Given the description of an element on the screen output the (x, y) to click on. 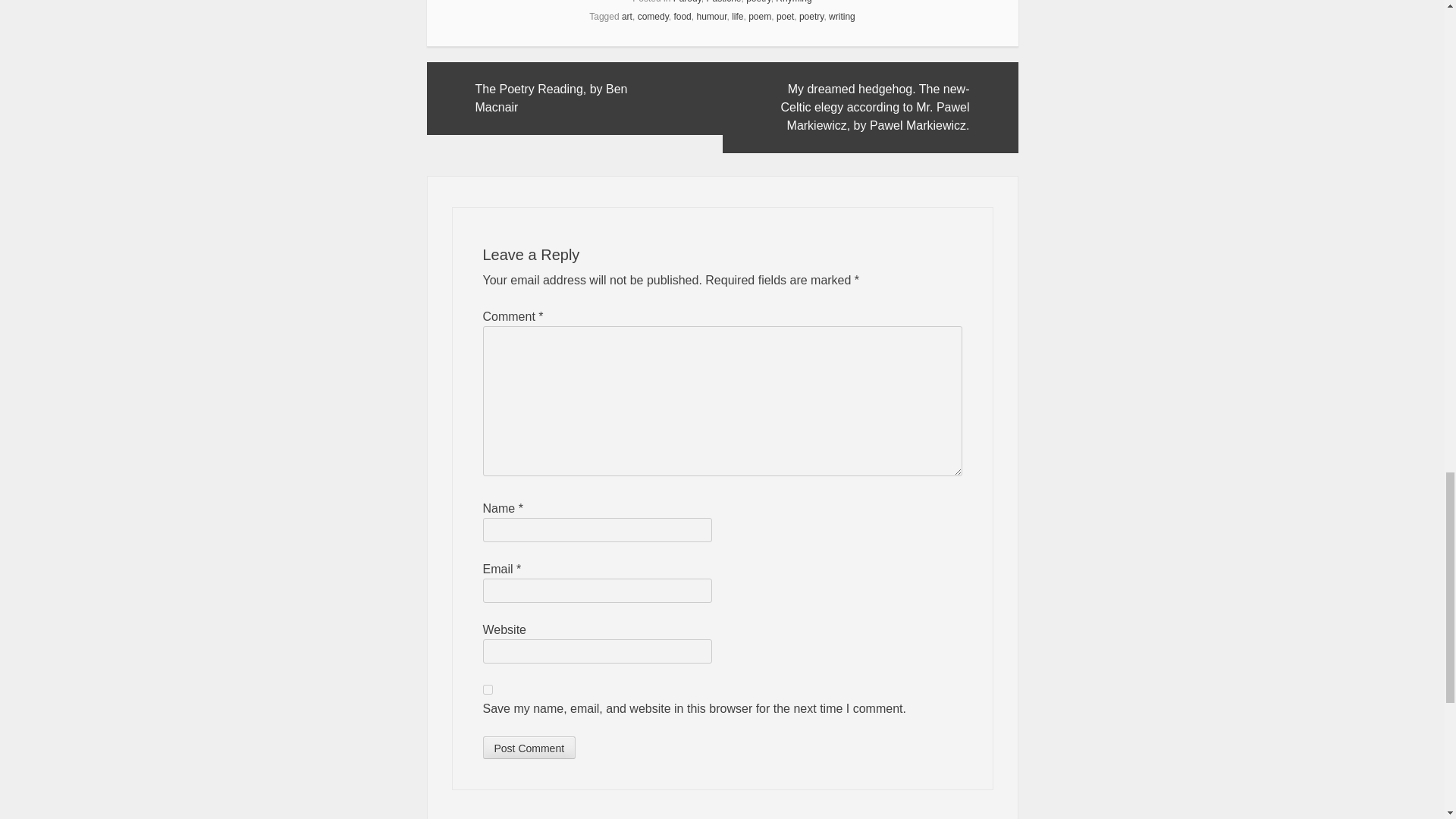
poetry (757, 2)
poem (759, 16)
Parody (686, 2)
food (681, 16)
art (626, 16)
life (737, 16)
The Poetry Reading, by Ben Macnair (574, 98)
humour (710, 16)
poetry (811, 16)
Post Comment (528, 747)
comedy (652, 16)
Rhyming (793, 2)
poet (784, 16)
yes (486, 689)
